Given the description of an element on the screen output the (x, y) to click on. 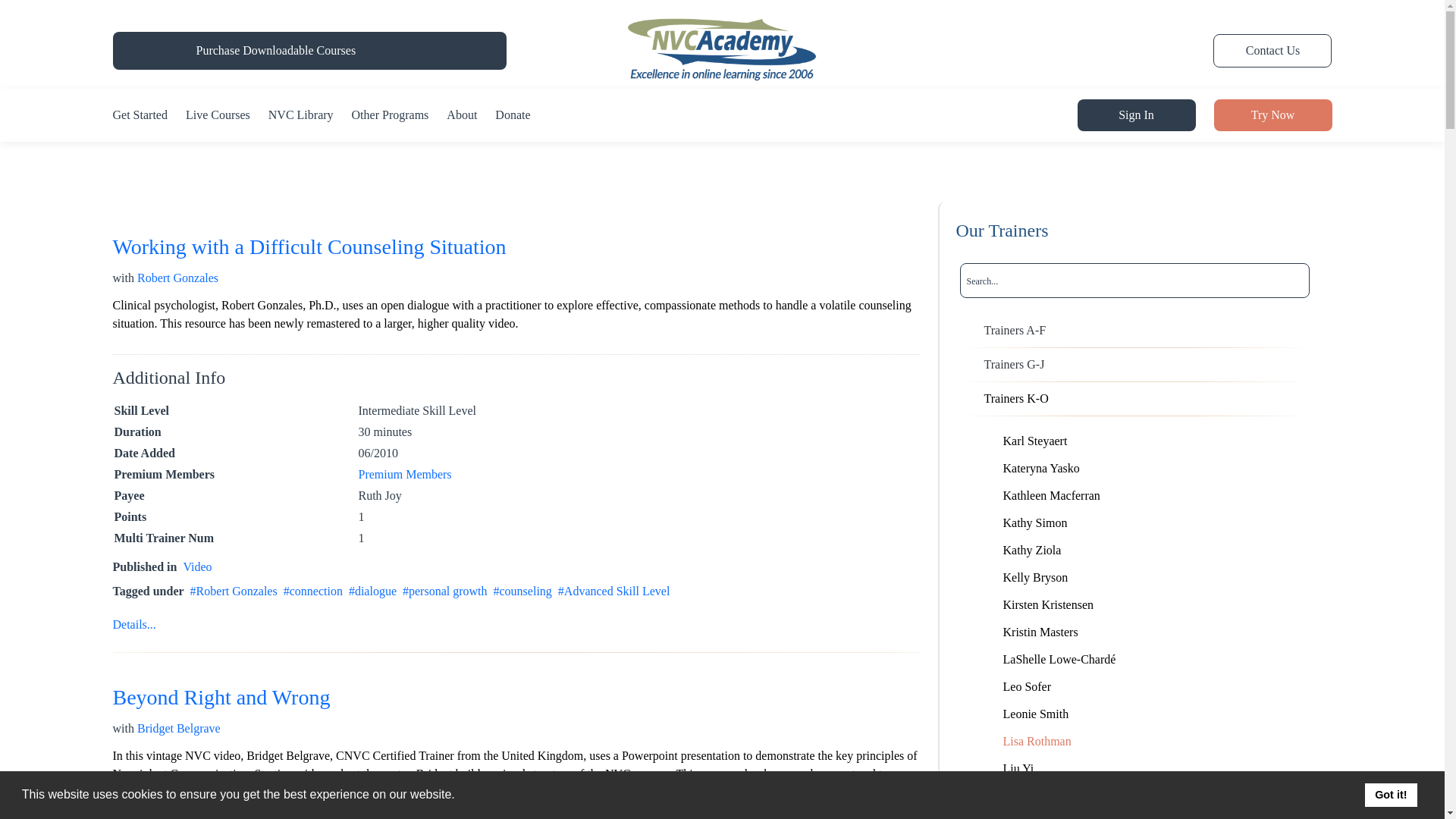
Purchase Downloadable Courses (275, 49)
Get Started (139, 114)
Contact Us (1272, 49)
Got it! (1390, 794)
NVC Library (300, 114)
Live Courses (218, 114)
Other Programs (390, 114)
